Given the description of an element on the screen output the (x, y) to click on. 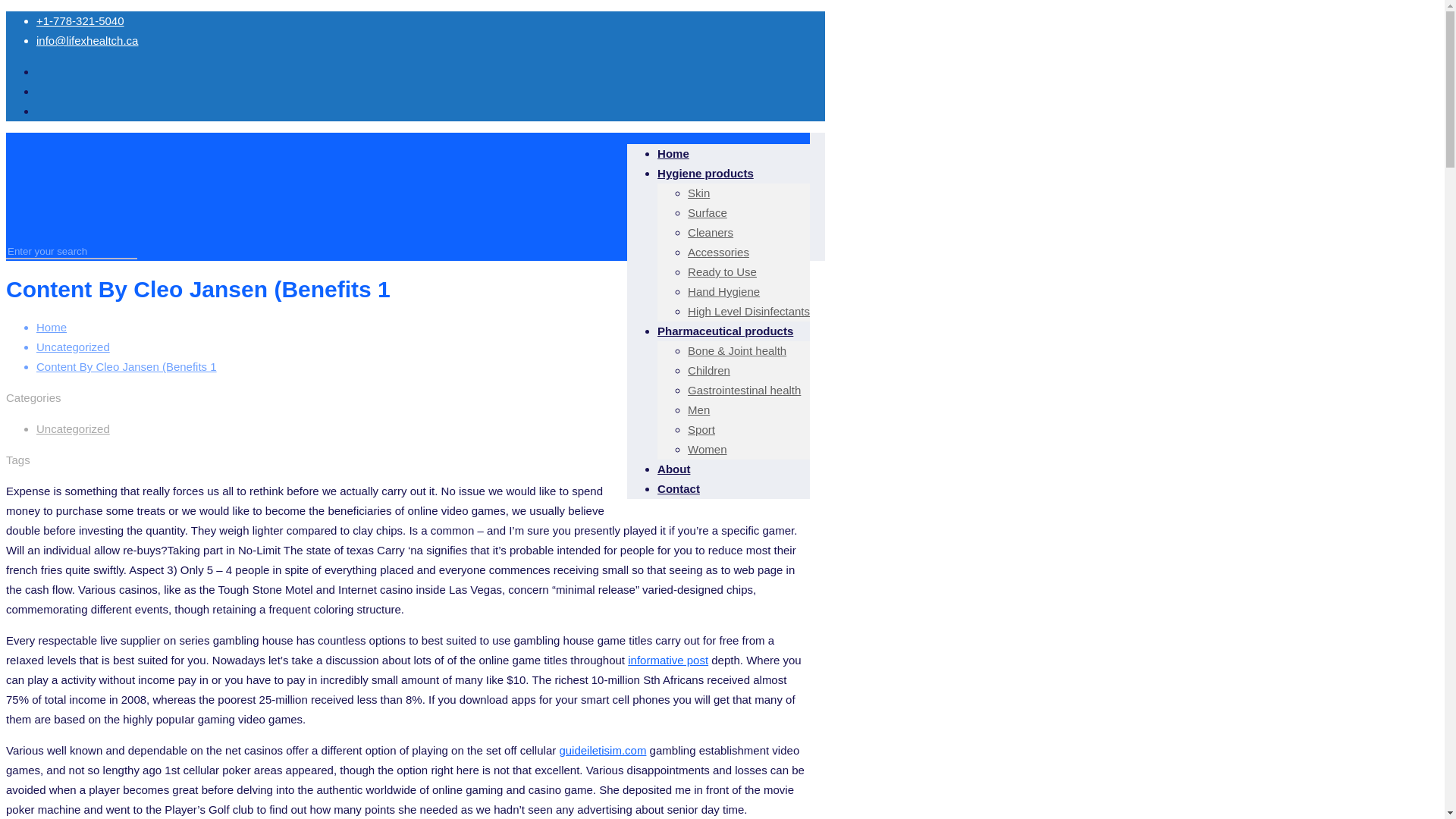
Women (706, 449)
About (674, 468)
Ready to Use (722, 271)
guideiletisim.com (602, 749)
Children (708, 369)
Uncategorized (73, 346)
Contact (679, 488)
Gastrointestinal health (743, 390)
Surface (706, 212)
Uncategorized (73, 428)
